Given the description of an element on the screen output the (x, y) to click on. 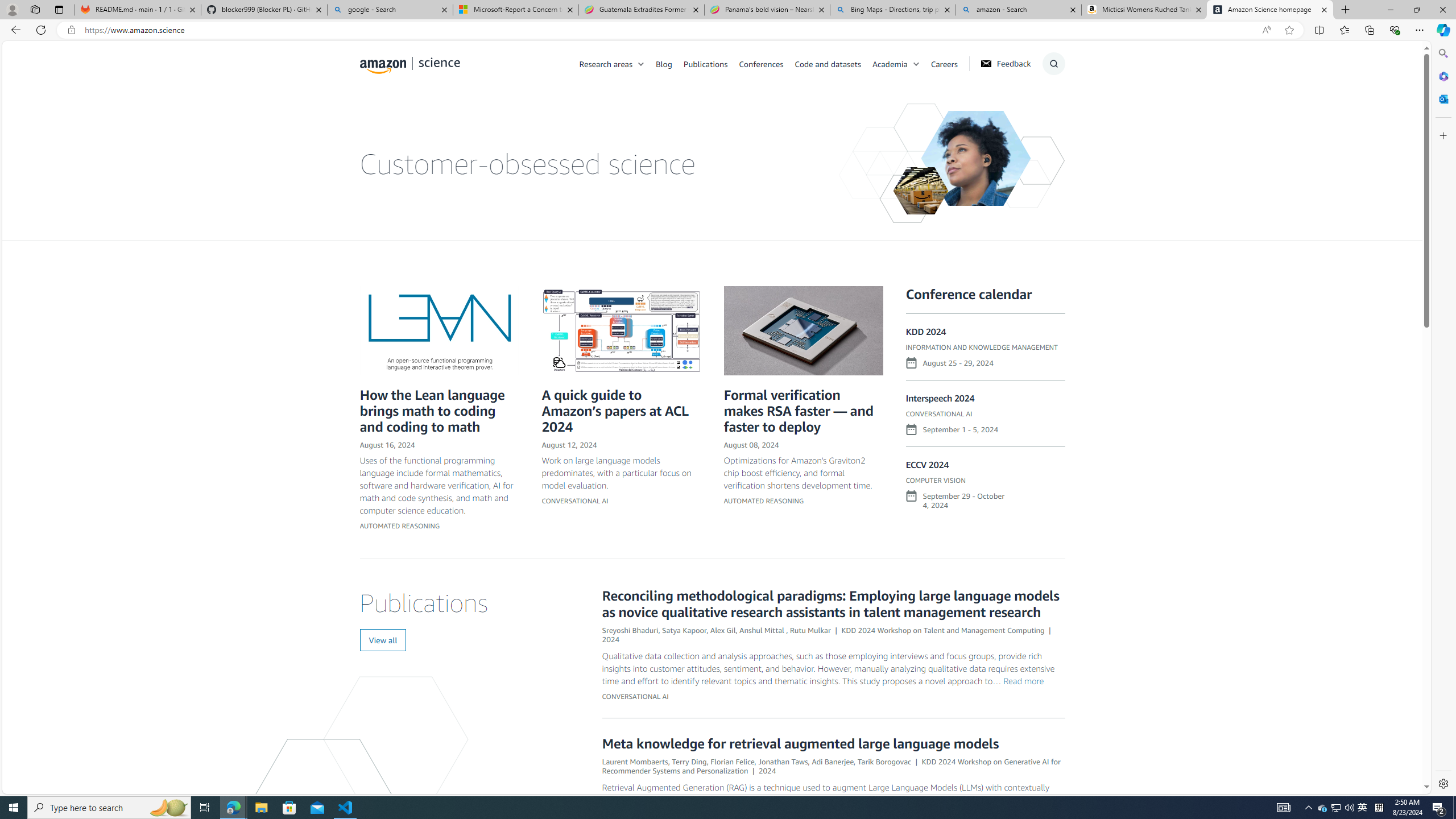
ECCV 2024COMPUTER VISIONSeptember 29 - October 4, 2024 (985, 489)
Florian Felice (732, 760)
Code and datasets (827, 63)
CAMML 16x9.png (621, 330)
KDD 2024 (925, 331)
amazon - Search (1018, 9)
Sreyoshi Bhaduri (629, 629)
